Given the description of an element on the screen output the (x, y) to click on. 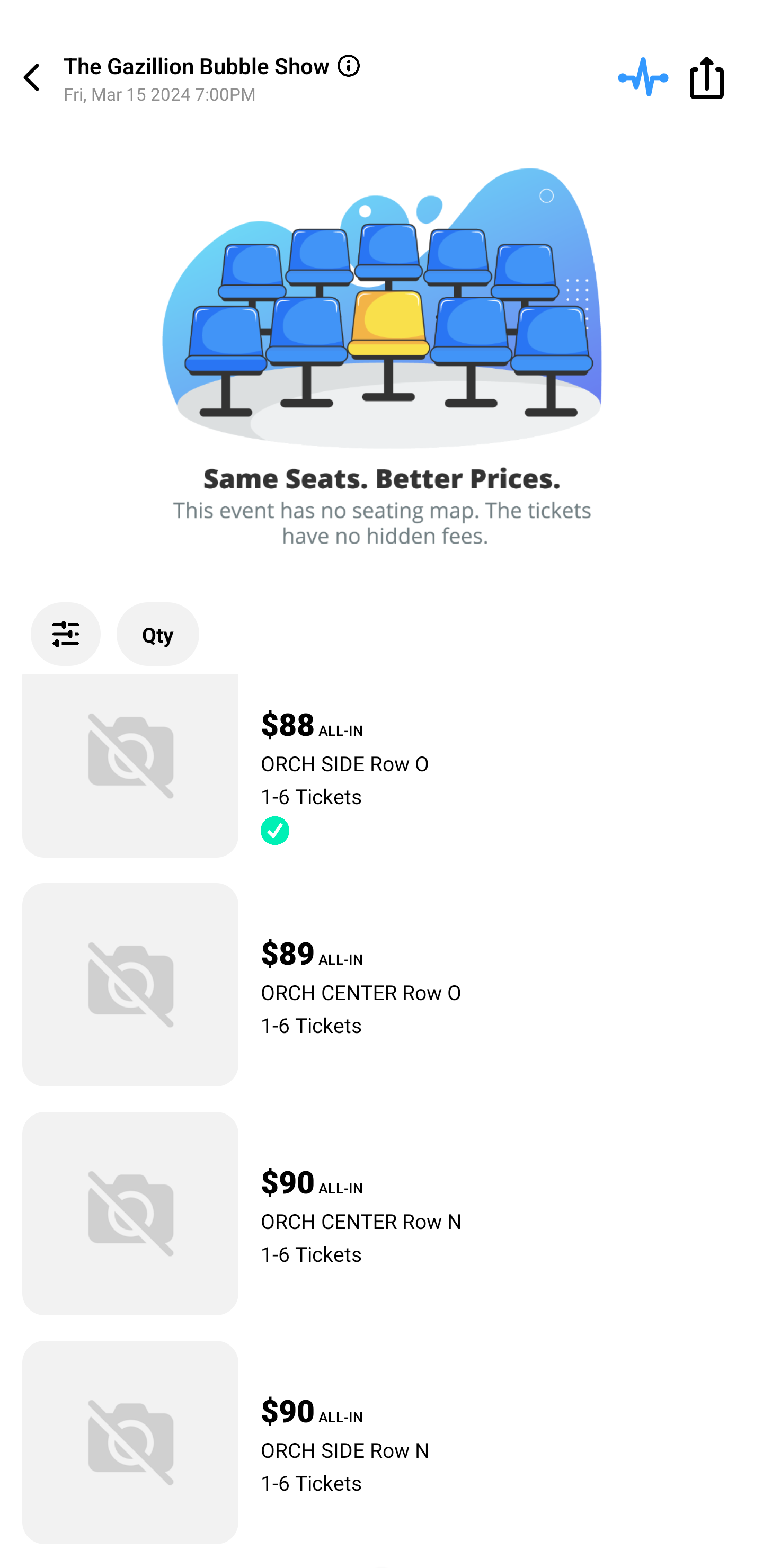
Qty (157, 634)
